Given the description of an element on the screen output the (x, y) to click on. 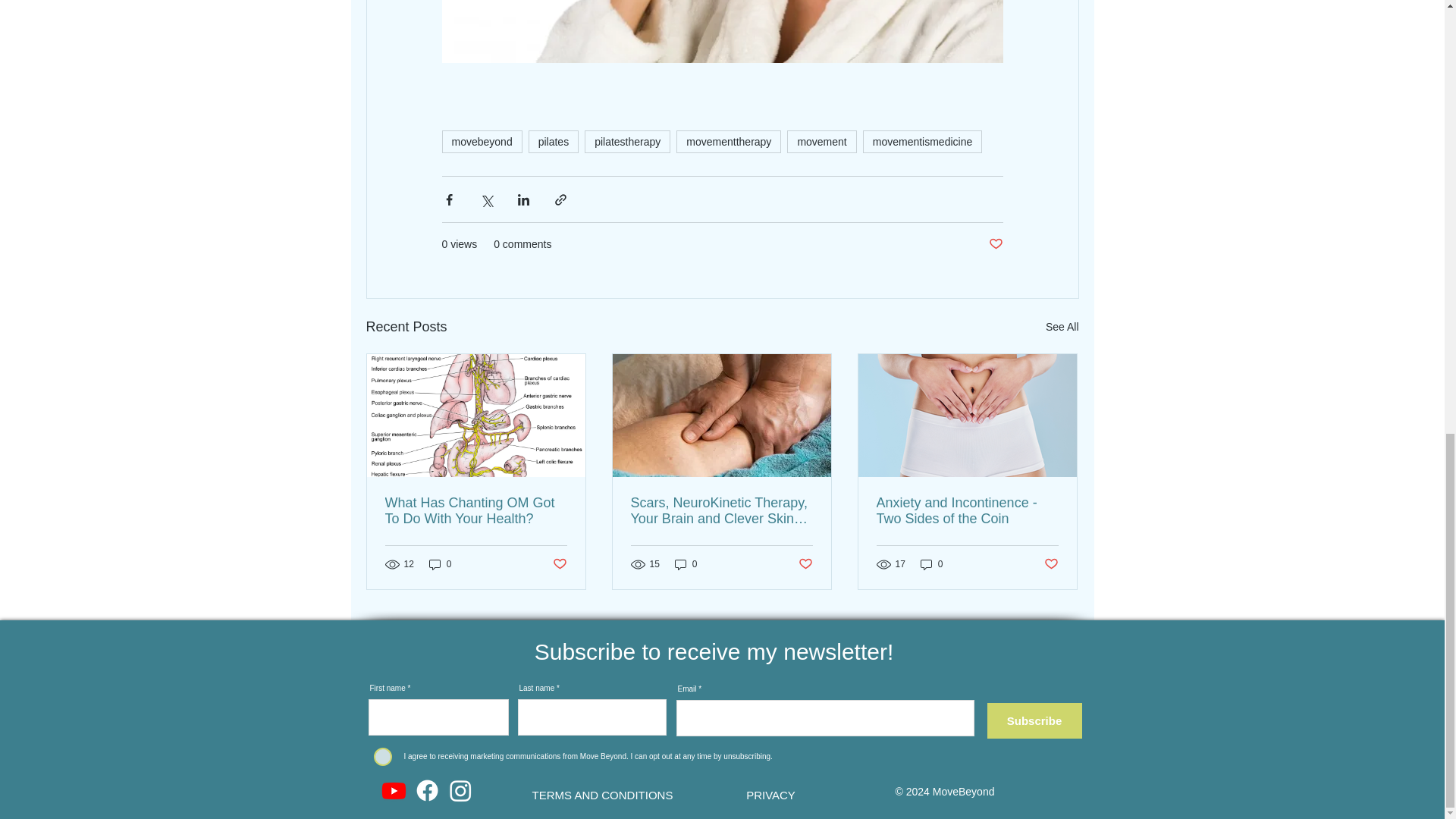
See All (1061, 327)
movement (821, 141)
Post not marked as liked (558, 564)
Post not marked as liked (804, 564)
Post not marked as liked (1050, 564)
Subscribe (1034, 720)
pilates (553, 141)
Post not marked as liked (995, 244)
Anxiety and Incontinence - Two Sides of the Coin (967, 511)
movebeyond (481, 141)
0 (931, 564)
movementismedicine (922, 141)
pilatestherapy (627, 141)
What Has Chanting OM Got To Do With Your Health? (476, 511)
